Given the description of an element on the screen output the (x, y) to click on. 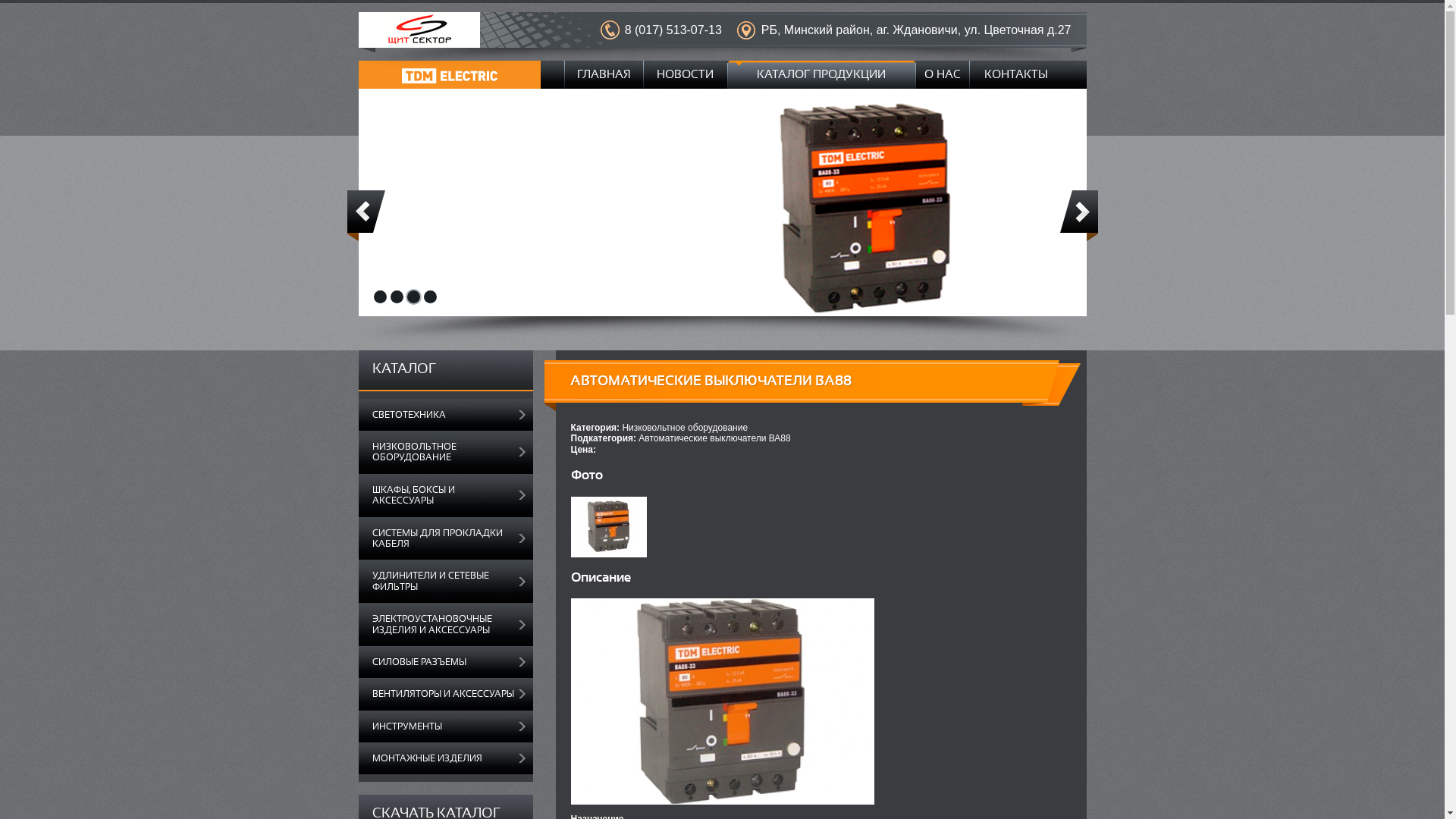
1 Element type: text (379, 296)
Prev Element type: text (366, 215)
Next Element type: text (1079, 215)
3 Element type: text (412, 296)
2 Element type: text (395, 296)
4 Element type: text (429, 296)
